Given the description of an element on the screen output the (x, y) to click on. 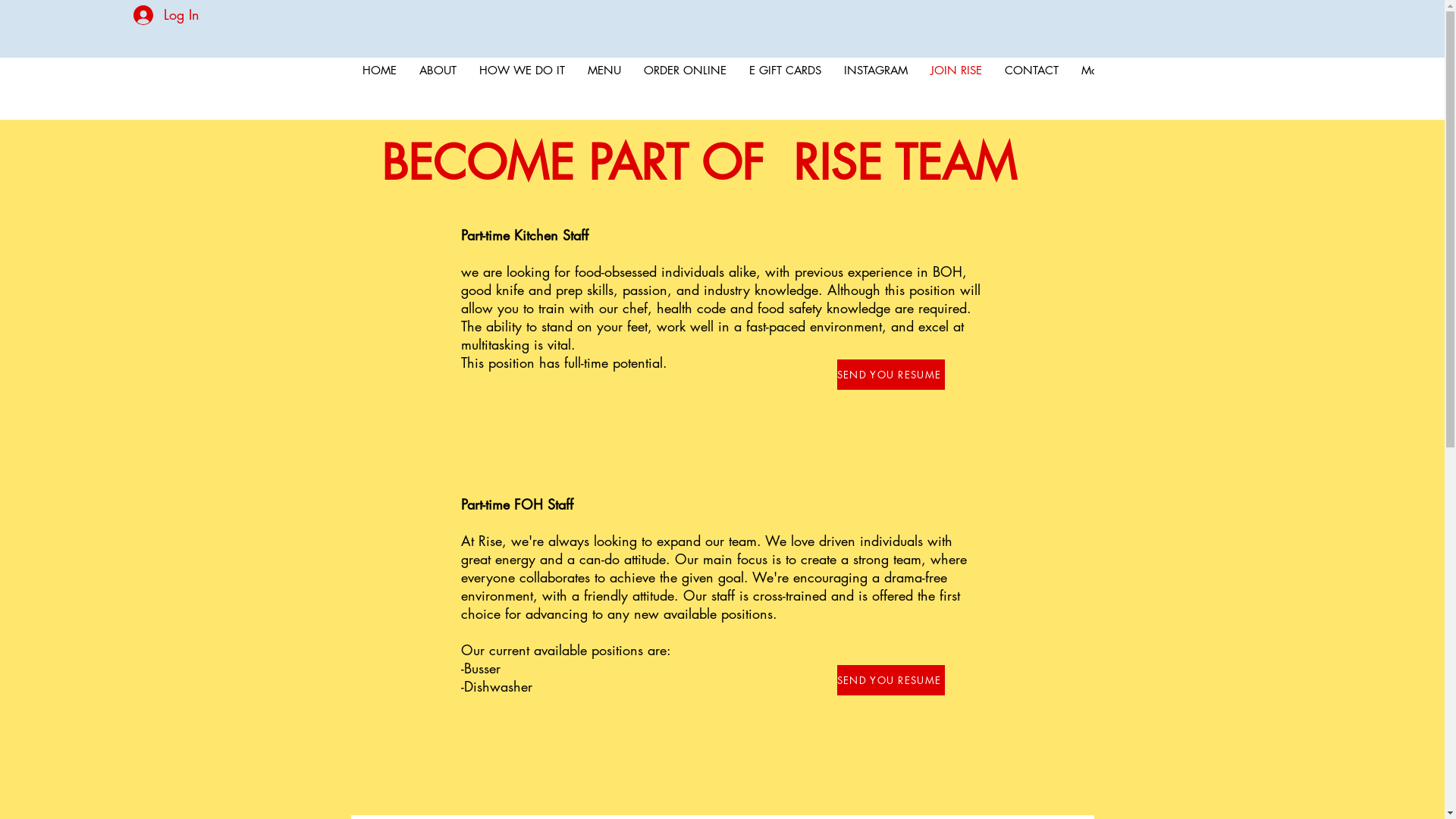
HOW WE DO IT Element type: text (521, 88)
E GIFT CARDS Element type: text (784, 88)
ABOUT Element type: text (437, 88)
Log In Element type: text (166, 14)
INSTAGRAM Element type: text (875, 88)
JOIN RISE Element type: text (956, 88)
SEND YOU RESUME Element type: text (890, 374)
MENU Element type: text (604, 88)
CONTACT Element type: text (1031, 88)
SEND YOU RESUME Element type: text (890, 680)
HOME Element type: text (378, 88)
ORDER ONLINE Element type: text (684, 88)
